Given the description of an element on the screen output the (x, y) to click on. 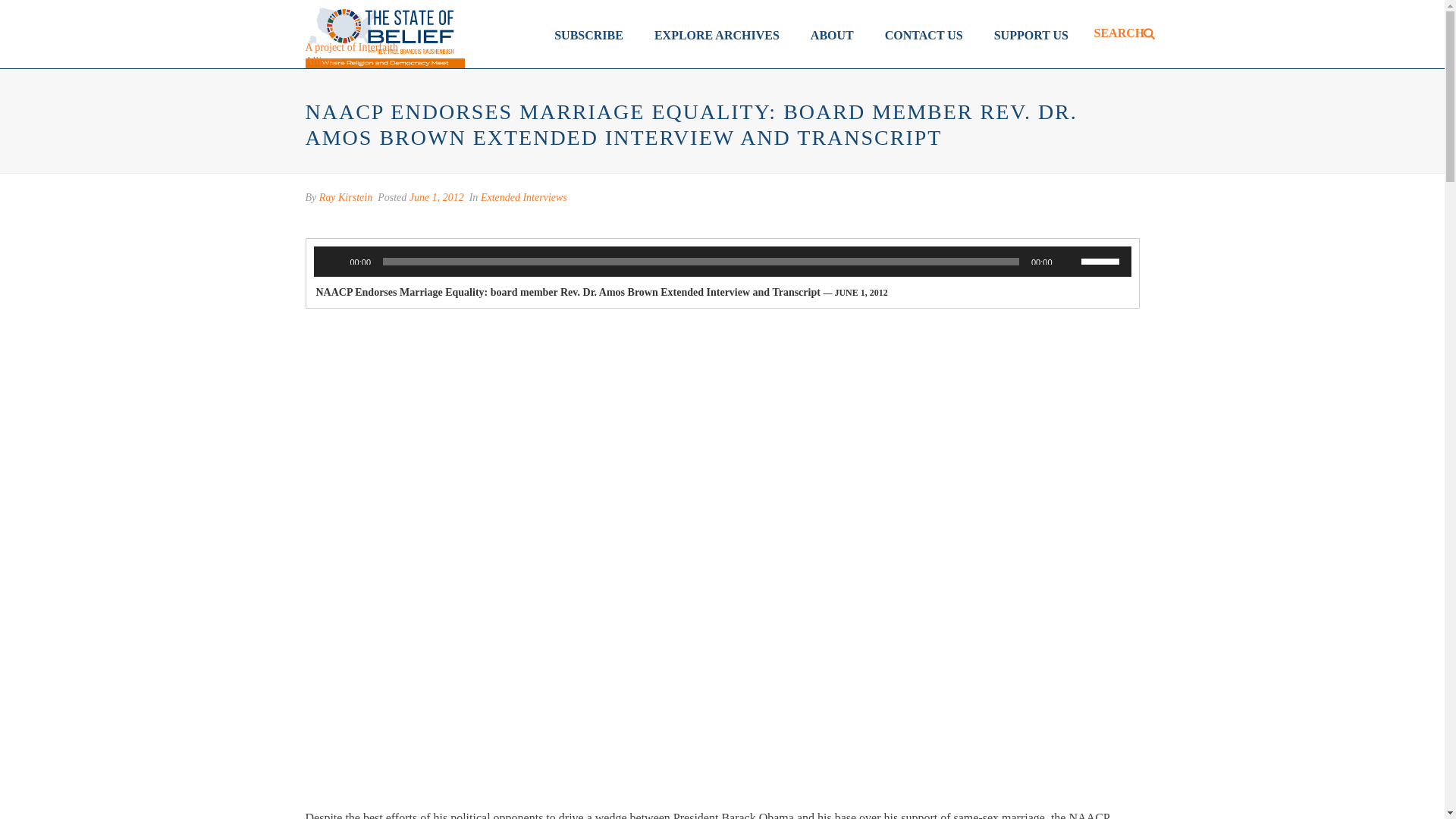
ABOUT (831, 33)
Ray Kirstein (345, 197)
EXPLORE ARCHIVES (716, 33)
Mute (1069, 261)
CONTACT US (923, 33)
SUPPORT US (1030, 33)
Posts by Ray Kirstein (345, 197)
SUPPORT US (1030, 33)
SUBSCRIBE (588, 33)
Where Religion and Democracy Meet (384, 33)
ABOUT (831, 33)
A project of Interfaith Alliance (353, 53)
CONTACT US (923, 33)
SUBSCRIBE (588, 33)
Play (333, 261)
